Given the description of an element on the screen output the (x, y) to click on. 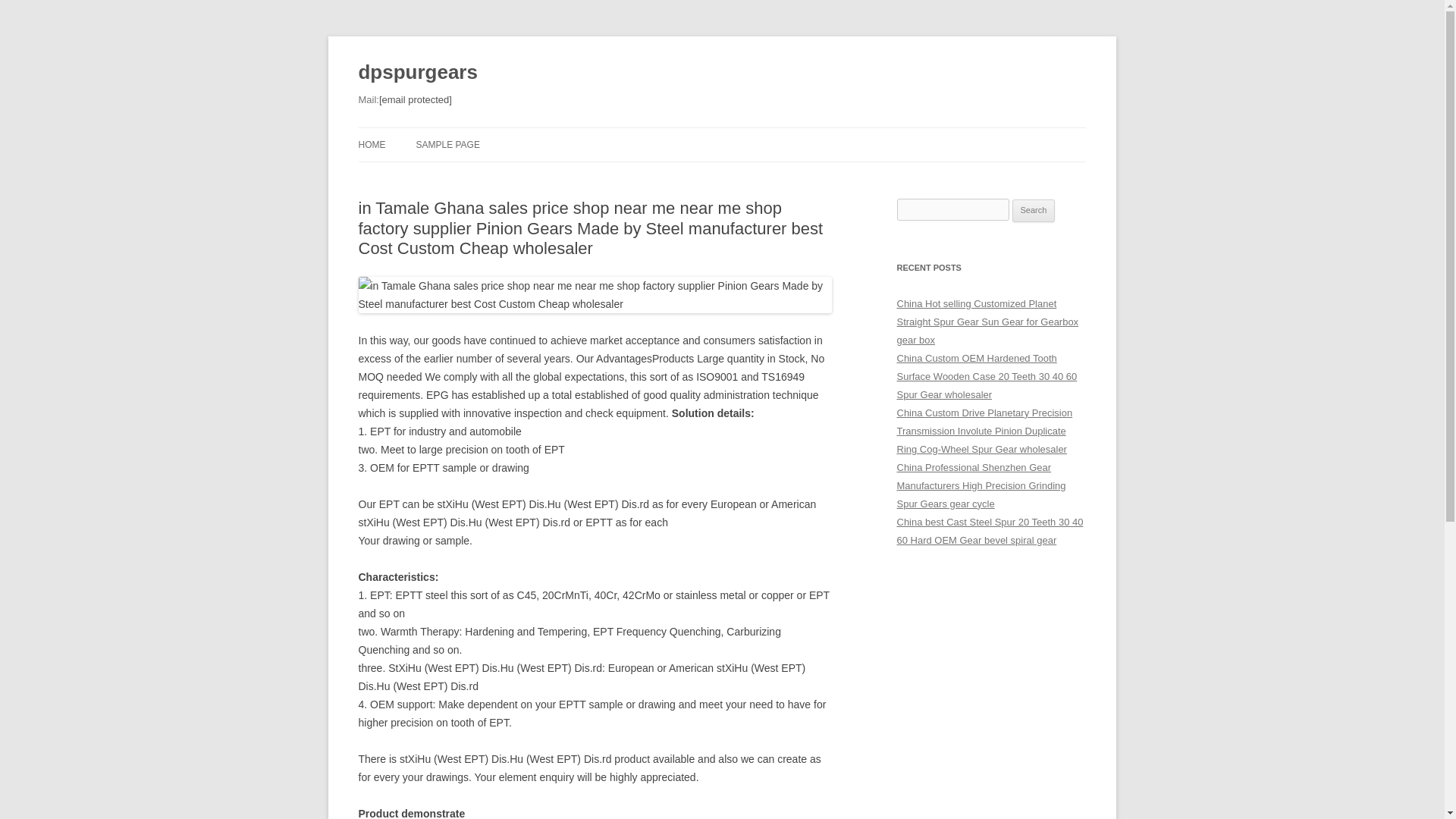
dpspurgears (417, 72)
Search (1033, 210)
SAMPLE PAGE (446, 144)
Search (1033, 210)
dpspurgears (417, 72)
